Given the description of an element on the screen output the (x, y) to click on. 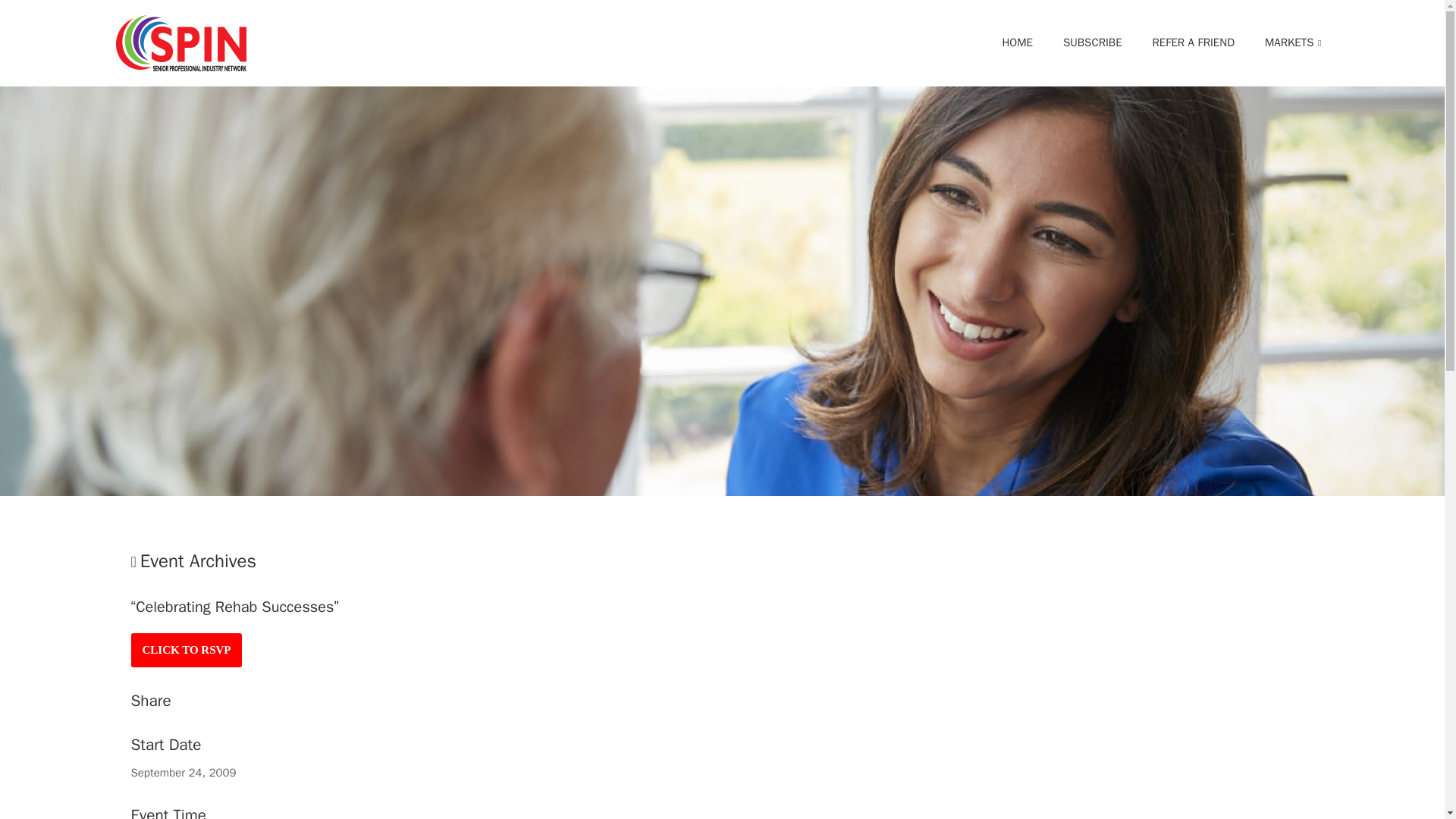
SUBSCRIBE (1092, 43)
Senior Professional Industry Network (1157, 43)
HOME (180, 43)
MARKETS (1016, 43)
CLICK TO RSVP (1288, 43)
REFER A FRIEND (186, 650)
